Given the description of an element on the screen output the (x, y) to click on. 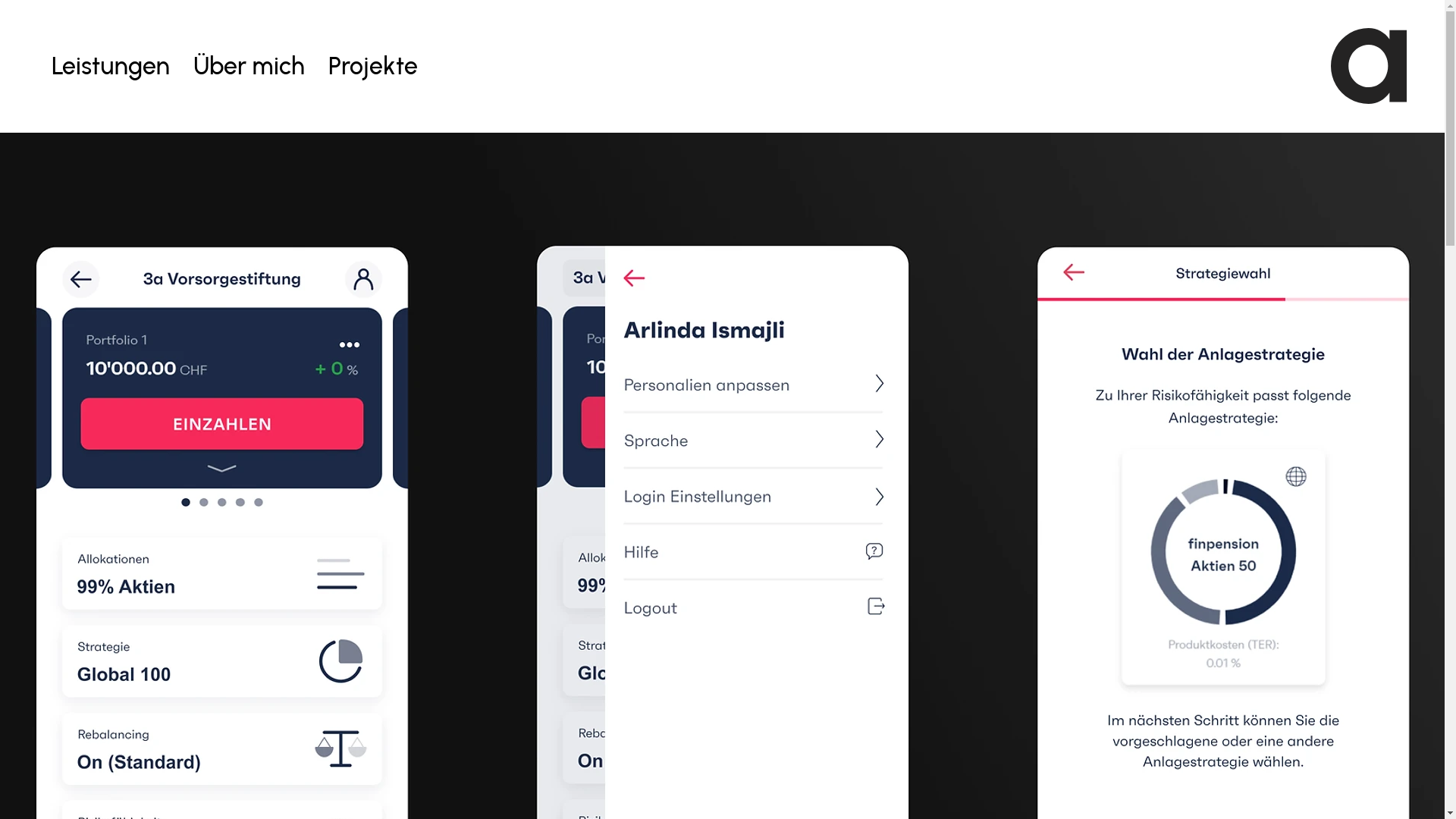
Leistungen Element type: text (111, 65)
Projekte Element type: text (372, 65)
